Given the description of an element on the screen output the (x, y) to click on. 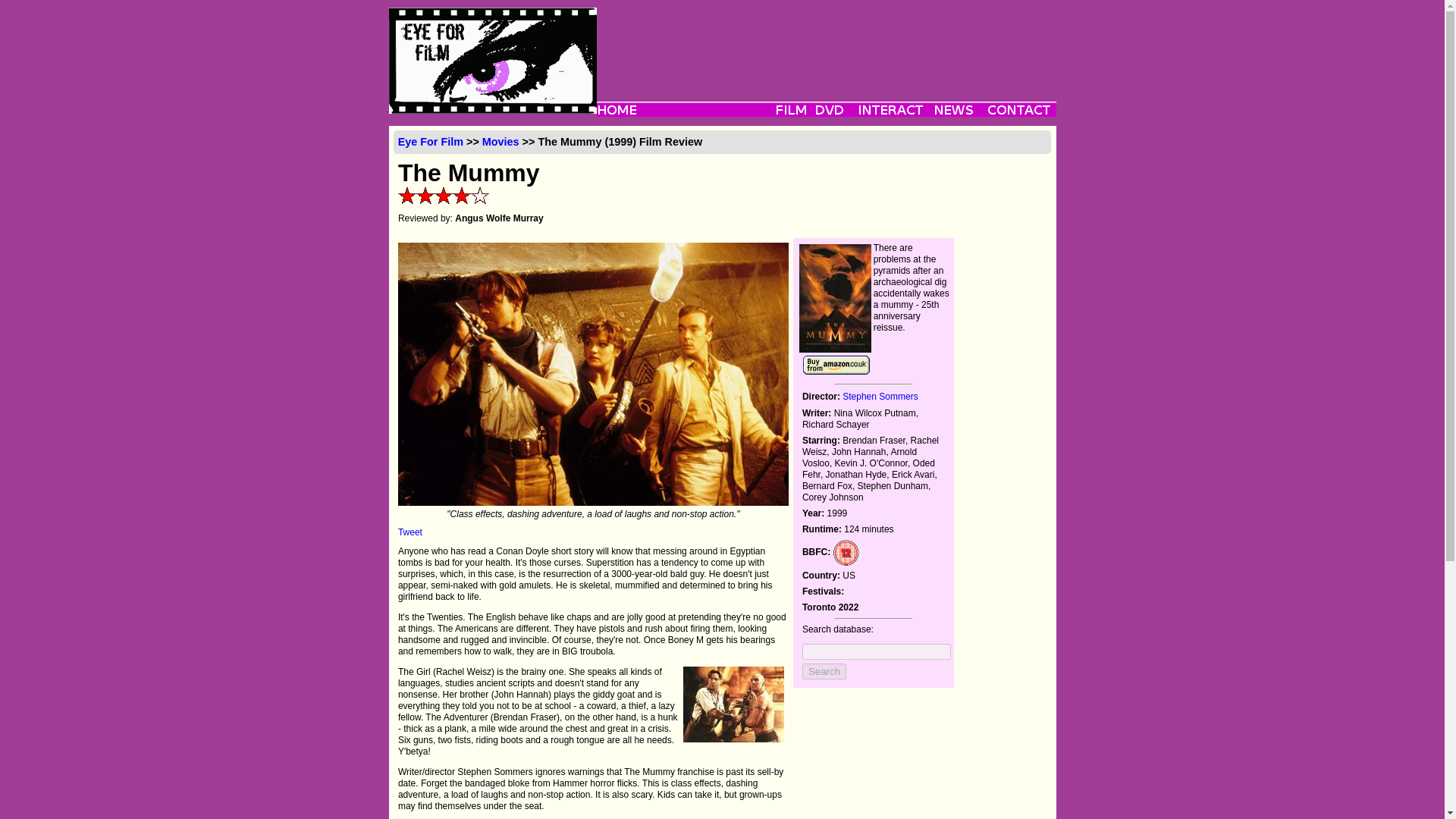
Stephen Sommers (880, 396)
Eye For Film (430, 141)
Search (823, 671)
Search (823, 671)
Tweet (409, 532)
Movies (500, 141)
Angus Wolfe Murray (498, 217)
Toronto 2022 (830, 606)
Advertisement (825, 41)
